Given the description of an element on the screen output the (x, y) to click on. 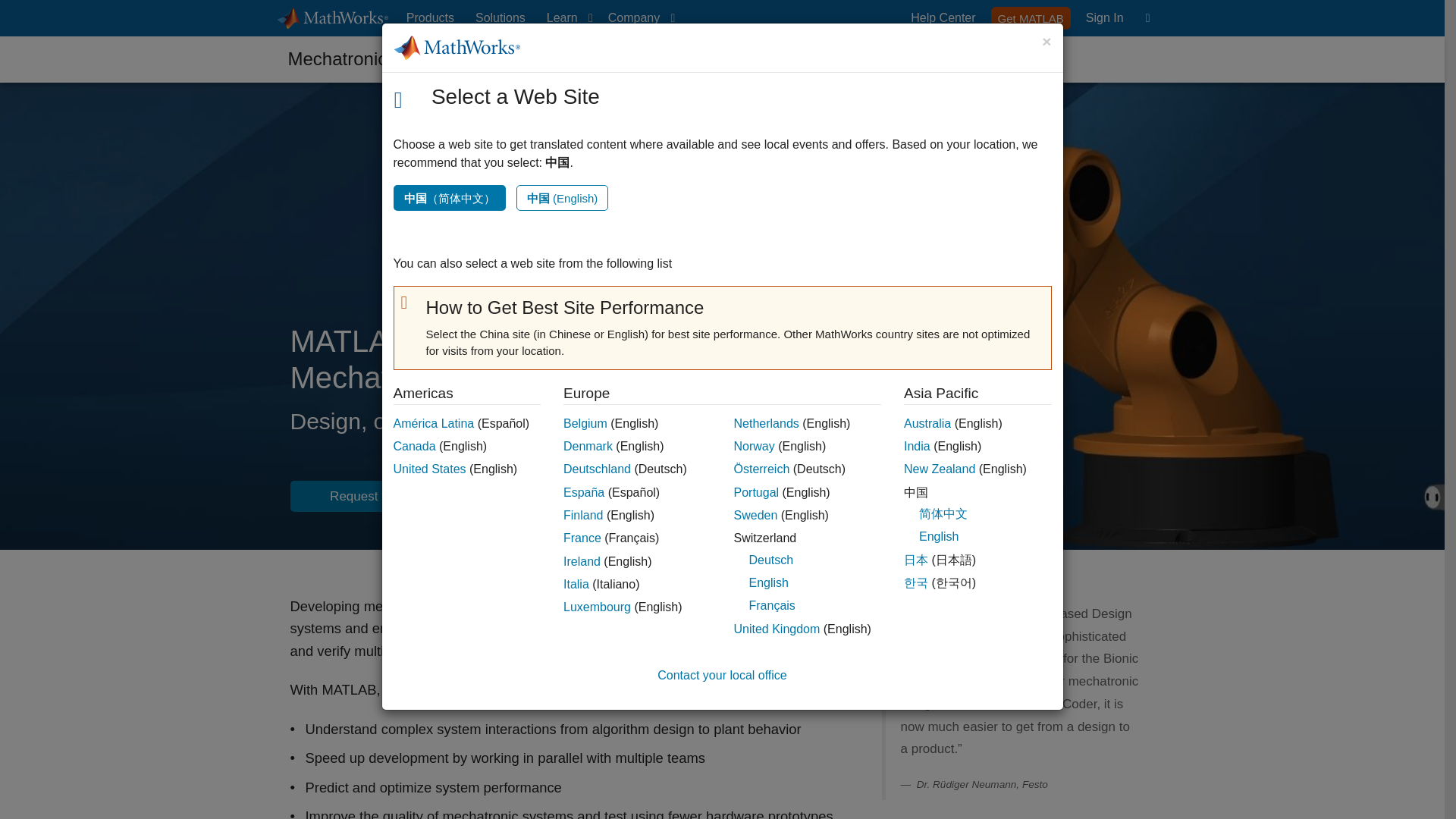
Solutions (499, 18)
Help Center (942, 18)
Learn (566, 18)
Products (430, 18)
Get MATLAB (1104, 18)
Company (1030, 17)
Sign In to Your MathWorks Account (638, 18)
